Given the description of an element on the screen output the (x, y) to click on. 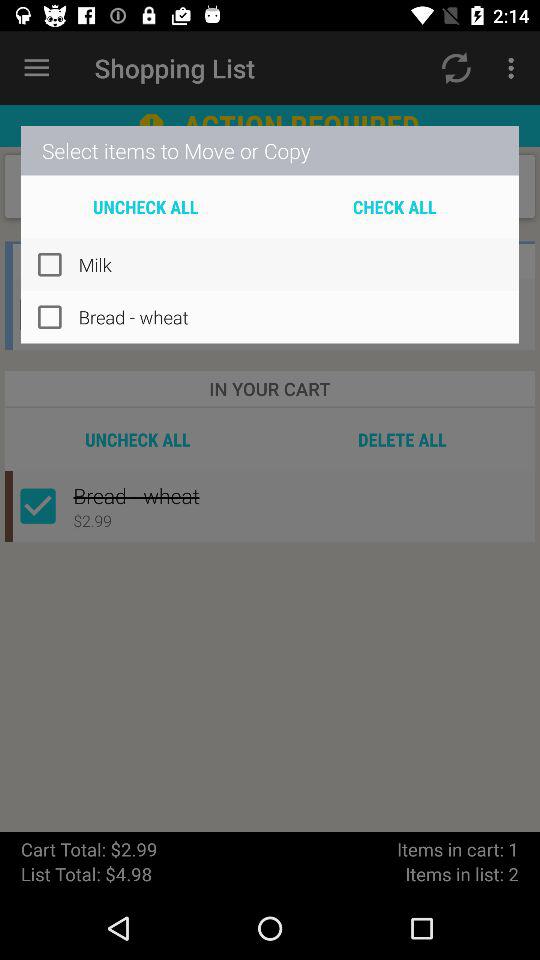
swipe until uncheck all icon (145, 206)
